Given the description of an element on the screen output the (x, y) to click on. 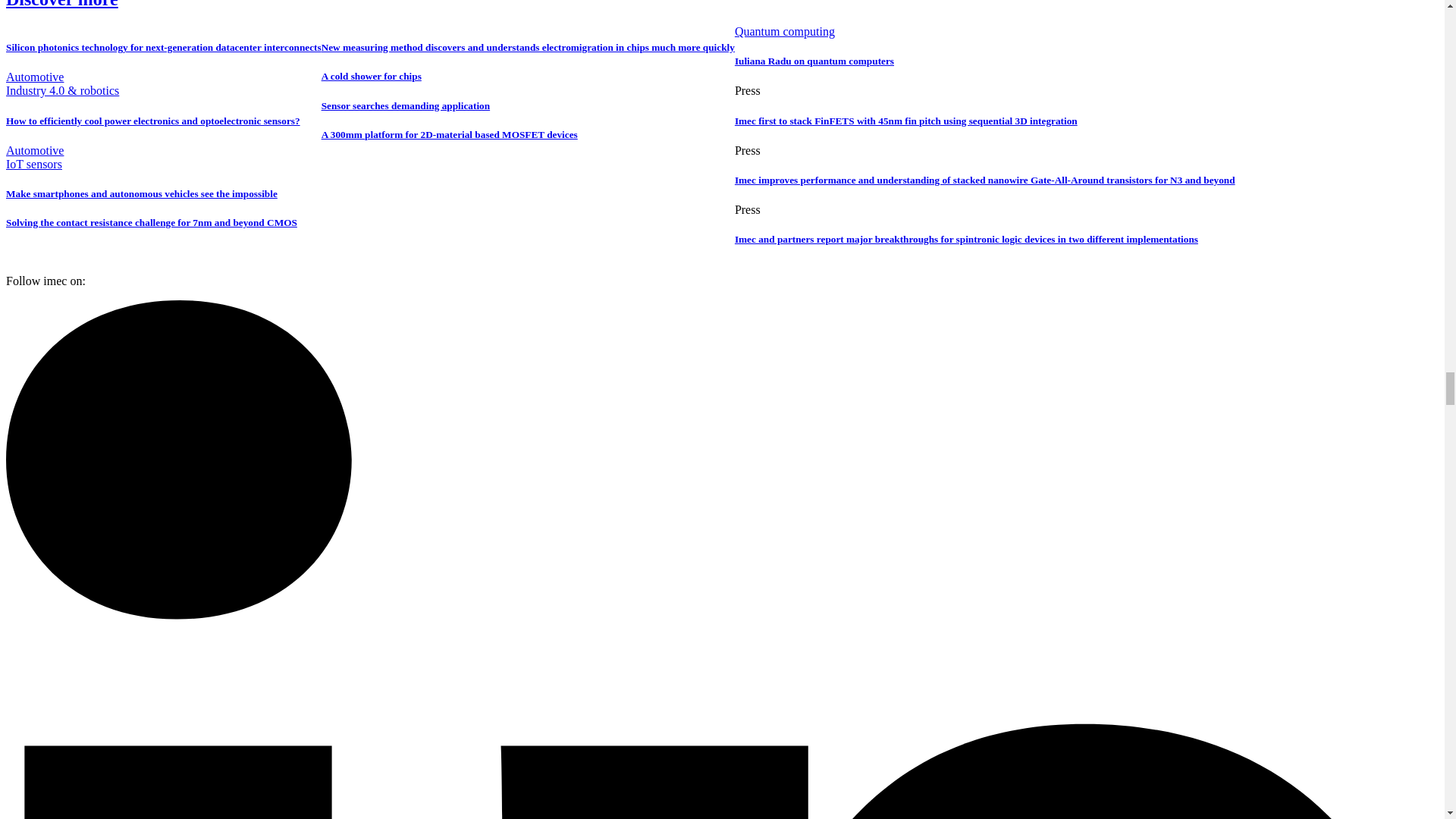
A 300mm platform for 2D-material based MOSFET devices (528, 134)
Make smartphones and autonomous vehicles see the impossible (163, 193)
Iuliana Radu on quantum computers (984, 61)
IoT sensors (33, 164)
Automotive (34, 76)
A cold shower for chips (528, 76)
Quantum computing (784, 31)
Automotive (34, 150)
Sensor searches demanding application (528, 105)
